Given the description of an element on the screen output the (x, y) to click on. 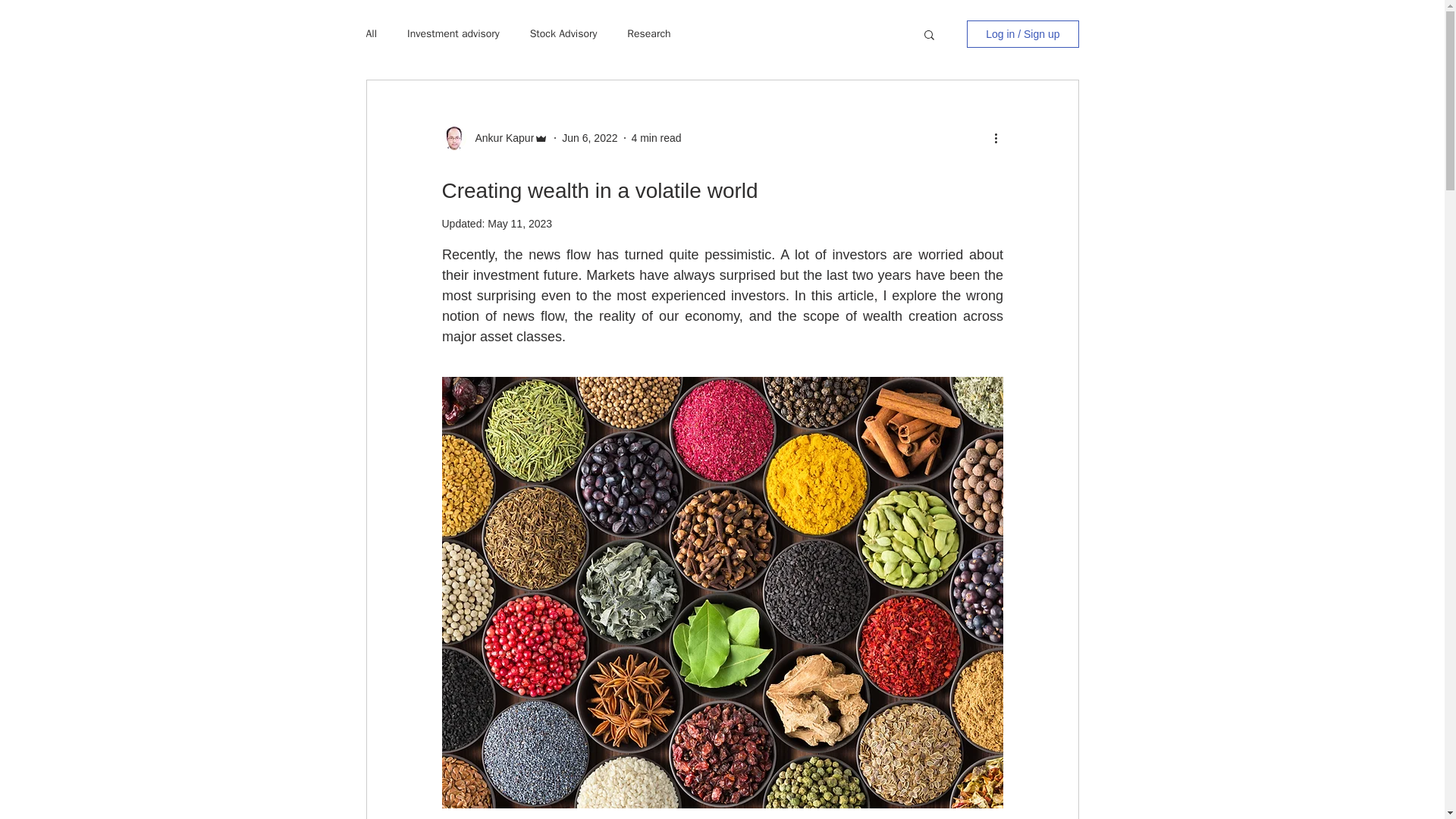
Ankur Kapur (499, 138)
May 11, 2023 (519, 223)
Research (648, 33)
Investment advisory (453, 33)
Stock Advisory (562, 33)
4 min read (655, 137)
Jun 6, 2022 (589, 137)
